Given the description of an element on the screen output the (x, y) to click on. 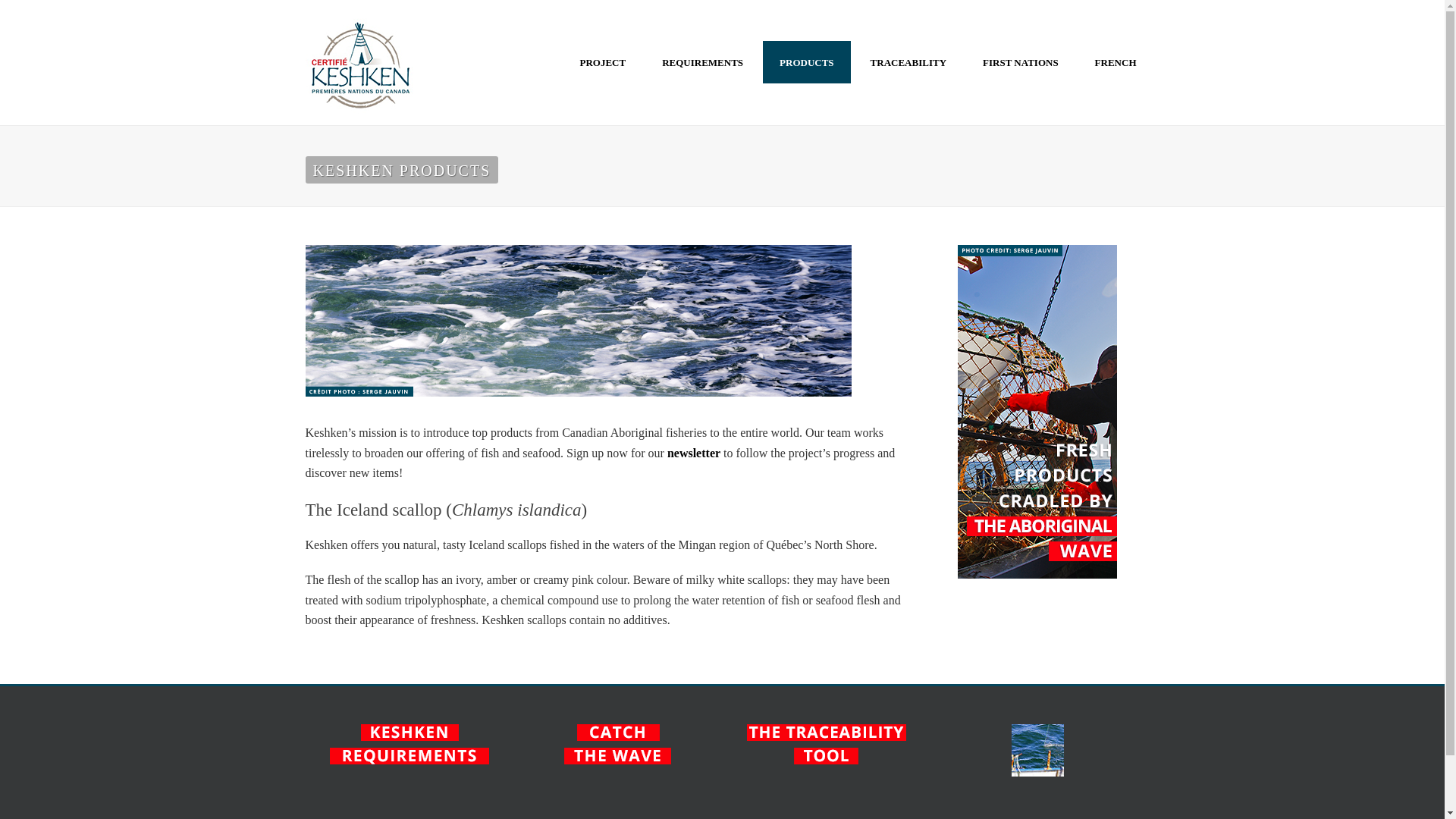
French (1115, 61)
FIRST NATIONS (1020, 61)
newsletter (693, 452)
PRODUCTS (806, 61)
REQUIREMENTS (702, 61)
TRACEABILITY (907, 61)
FRENCH (1115, 61)
TRACEABILITY (907, 61)
FIRST NATIONS (1020, 61)
PROJECT (602, 61)
PRODUCTS (806, 61)
PROJECT (602, 61)
FRENCH (1115, 61)
REQUIREMENTS (702, 61)
